Given the description of an element on the screen output the (x, y) to click on. 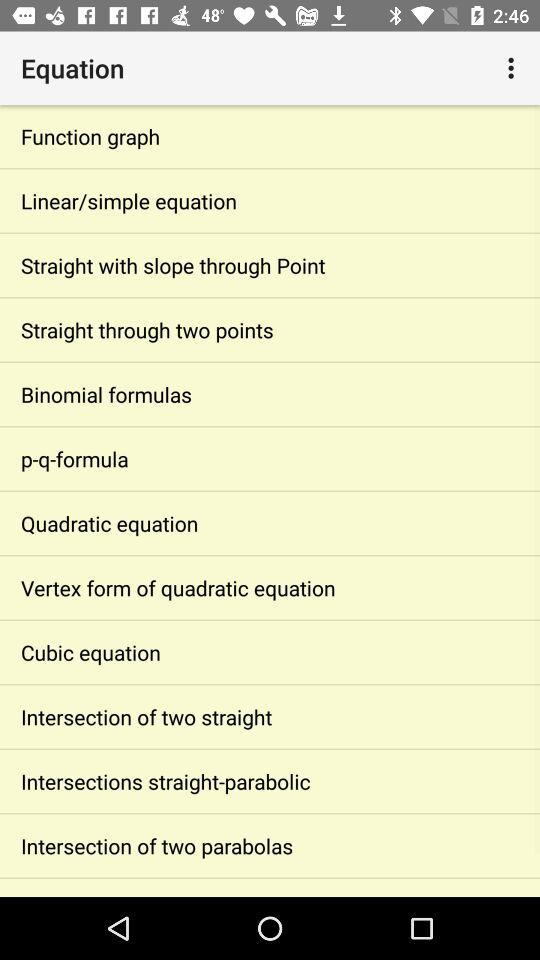
tap app above quadratic equation app (270, 458)
